Given the description of an element on the screen output the (x, y) to click on. 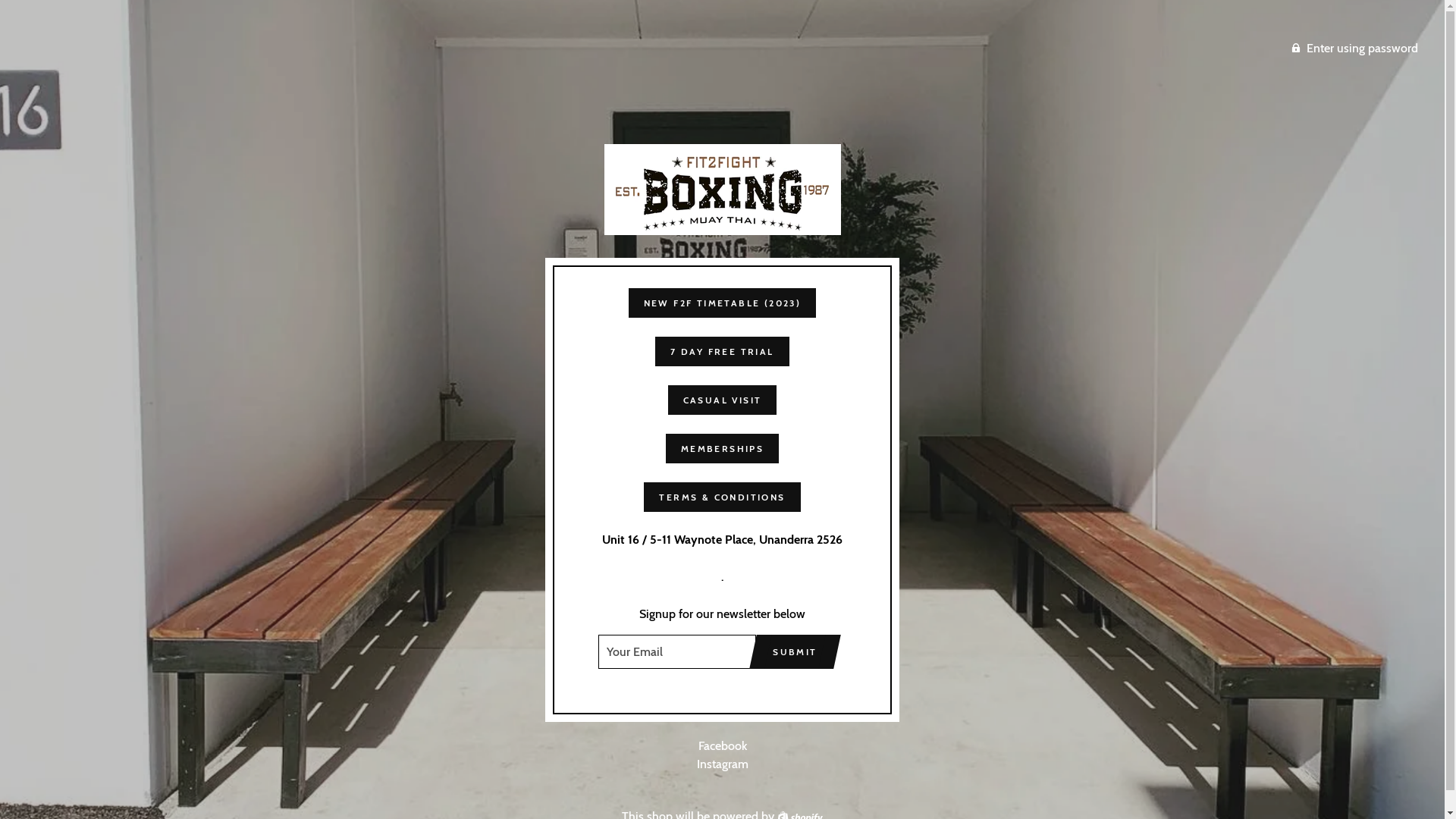
MEMBERSHIPS Element type: text (721, 448)
NEW F2F TIMETABLE (2023) Element type: text (722, 302)
SUBMIT Element type: text (794, 651)
Enter using password Element type: text (1354, 47)
TERMS & CONDITIONS Element type: text (721, 496)
Facebook Element type: text (722, 746)
Instagram Element type: text (722, 764)
7 DAY FREE TRIAL Element type: text (721, 351)
CASUAL VISIT Element type: text (722, 399)
